Given the description of an element on the screen output the (x, y) to click on. 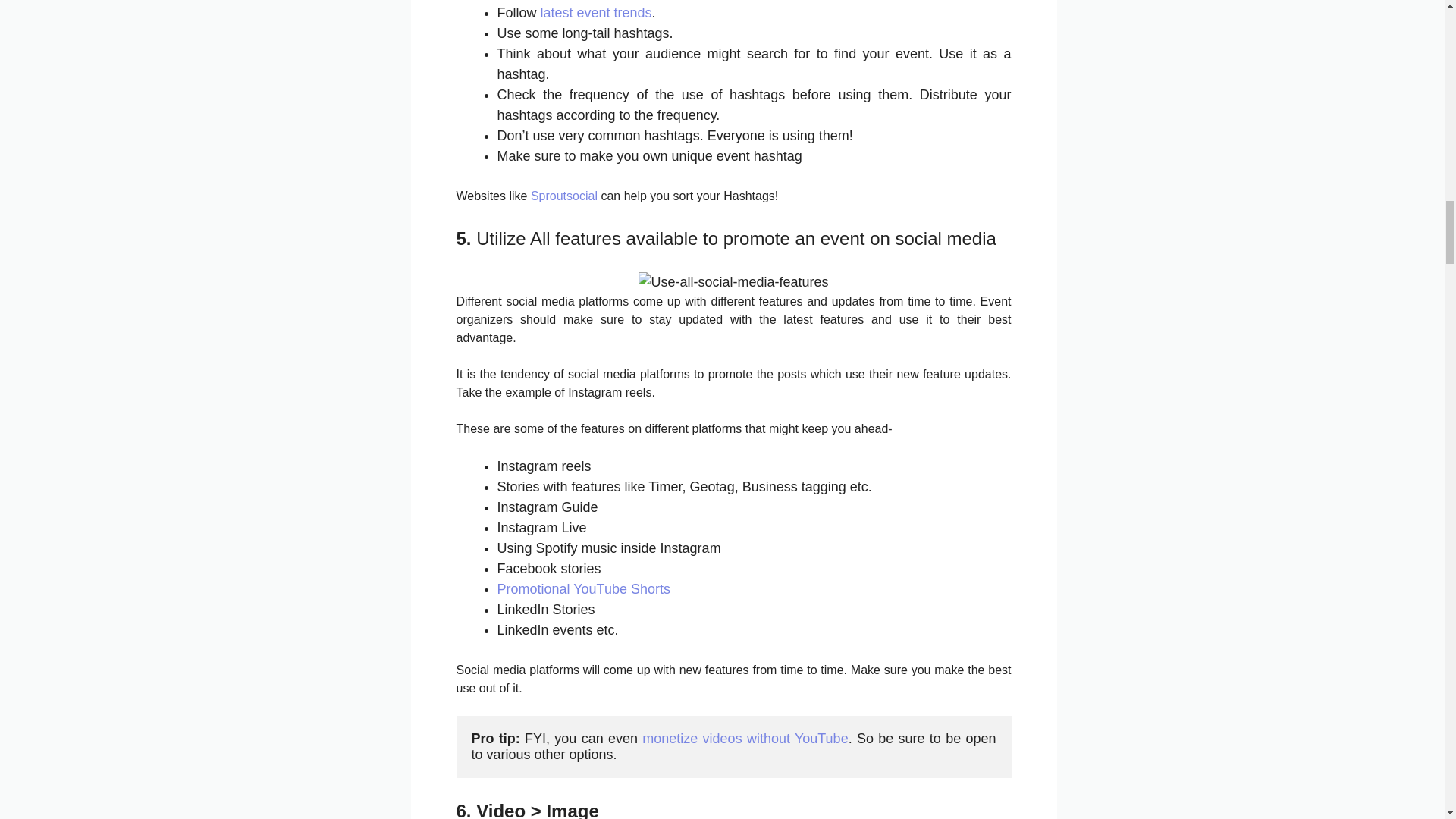
latest event trends (596, 12)
Promotional YouTube Shorts (583, 589)
Sproutsocial (563, 195)
monetize videos without YouTube (744, 738)
